Given the description of an element on the screen output the (x, y) to click on. 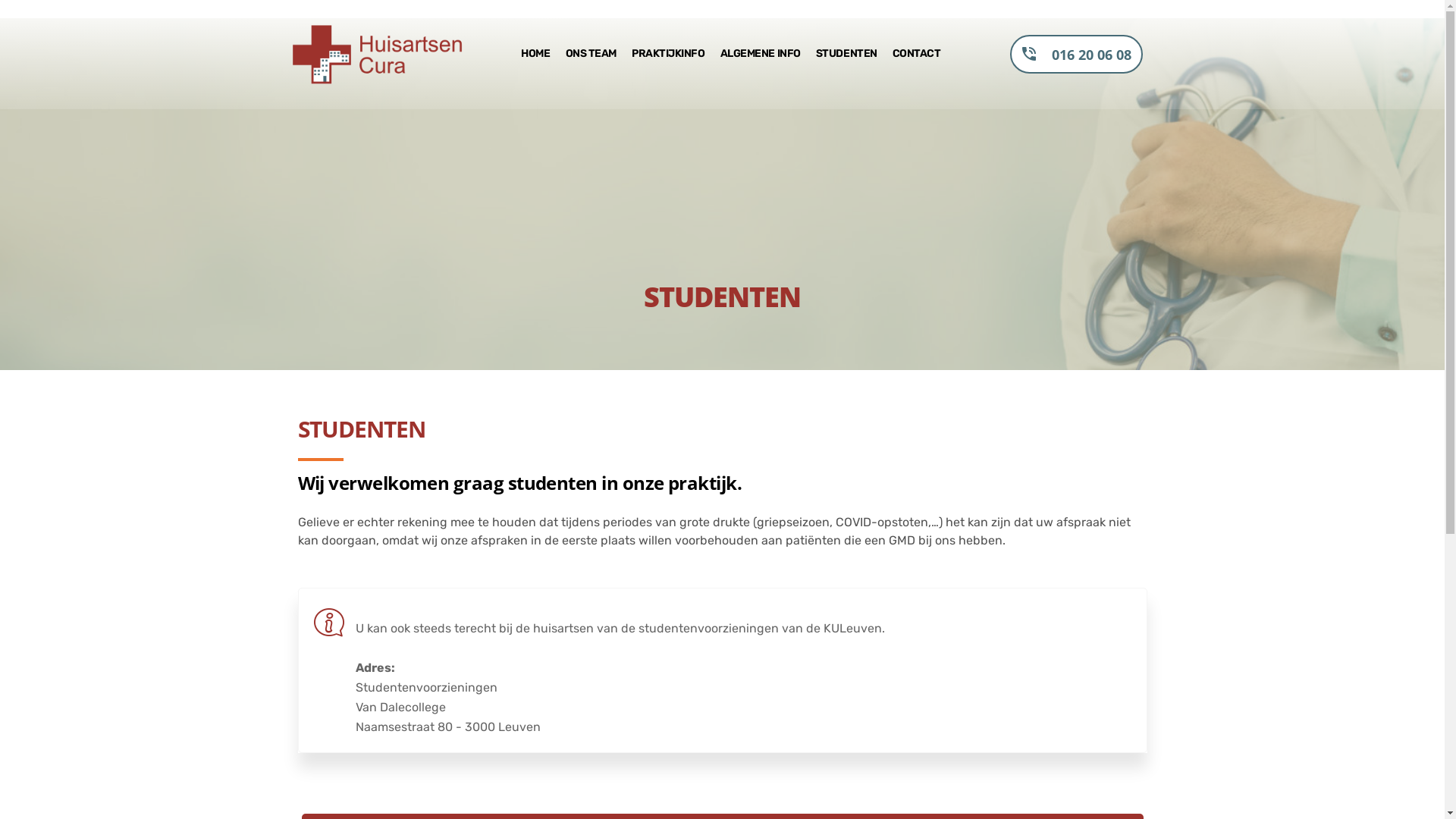
CONTACT Element type: text (916, 54)
HOME Element type: text (535, 54)
016 20 06 08 Element type: text (1076, 53)
PRAKTIJKINFO Element type: text (668, 54)
ONS TEAM Element type: text (591, 54)
STUDENTEN Element type: text (846, 54)
ALGEMENE INFO Element type: text (760, 54)
